Given the description of an element on the screen output the (x, y) to click on. 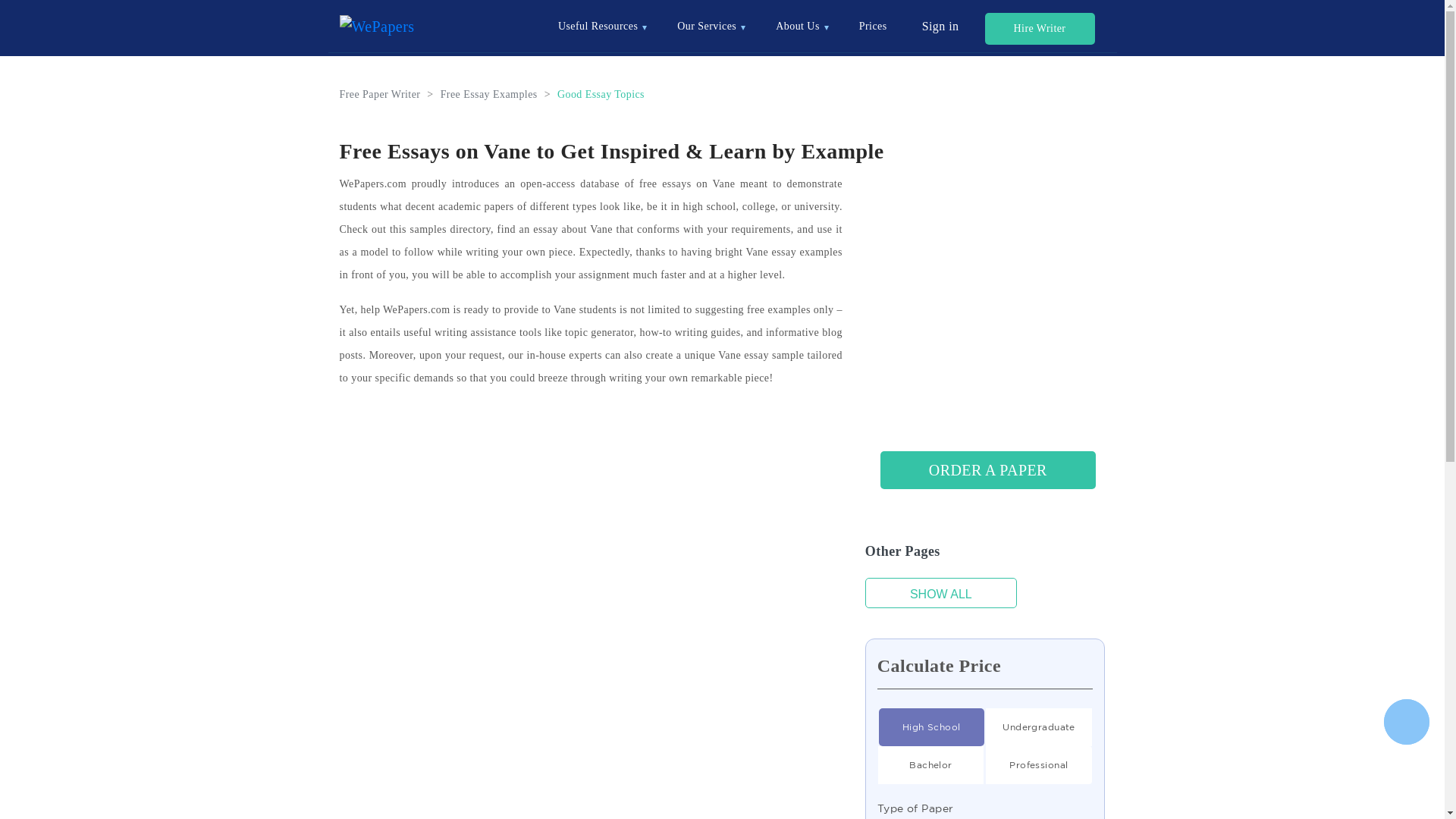
Free Paper Writer (379, 94)
Good Essay Topics (601, 94)
Free Essay Examples (489, 94)
4 (1038, 764)
3 (931, 764)
6 (931, 726)
1 (1038, 726)
